Given the description of an element on the screen output the (x, y) to click on. 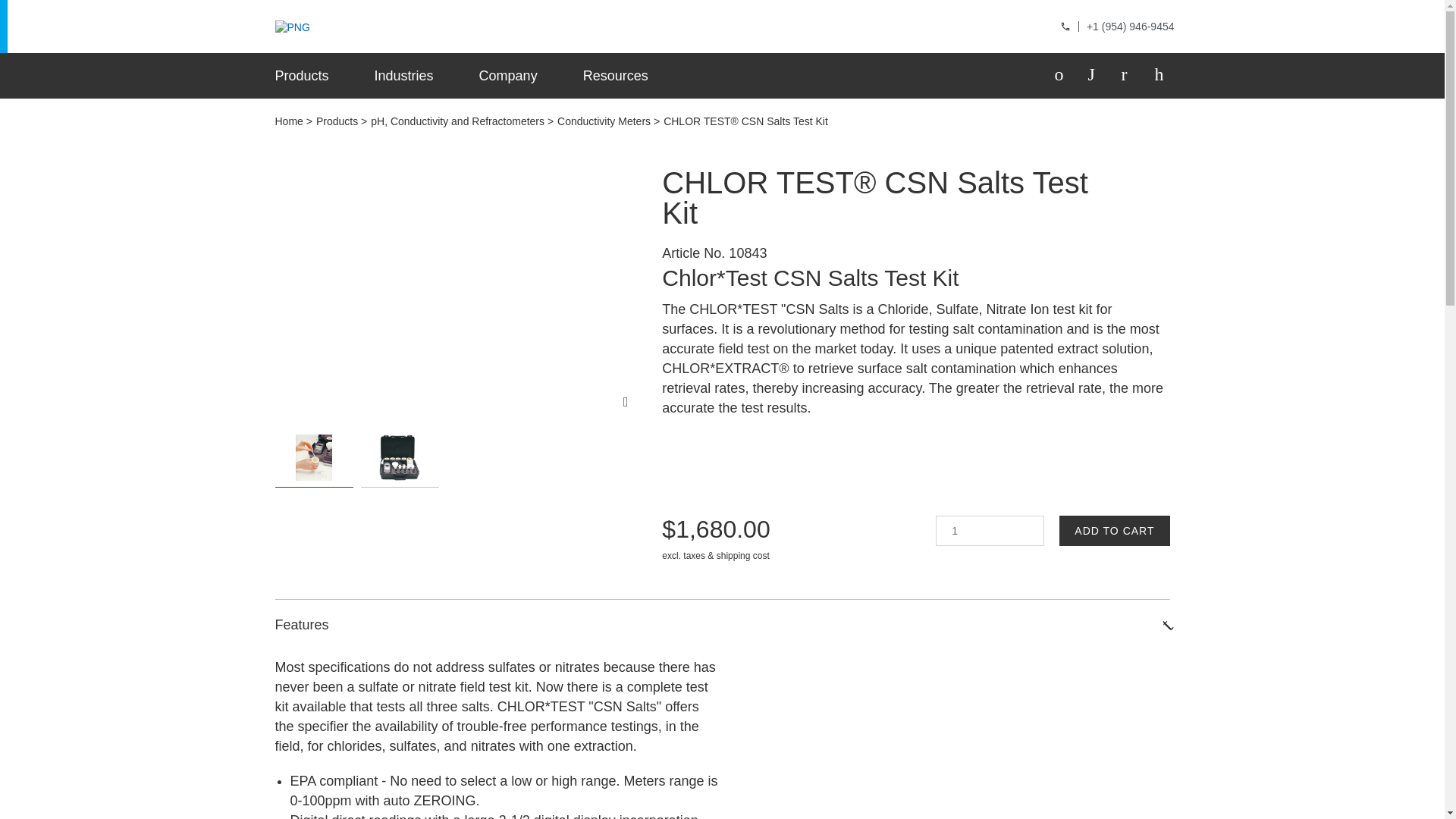
Resources (615, 75)
pH, Conductivity and Refractometers (462, 121)
Products (340, 121)
Products (302, 75)
Conductivity Meters (608, 121)
PNG (291, 28)
Company (508, 75)
Industries (403, 75)
